Given the description of an element on the screen output the (x, y) to click on. 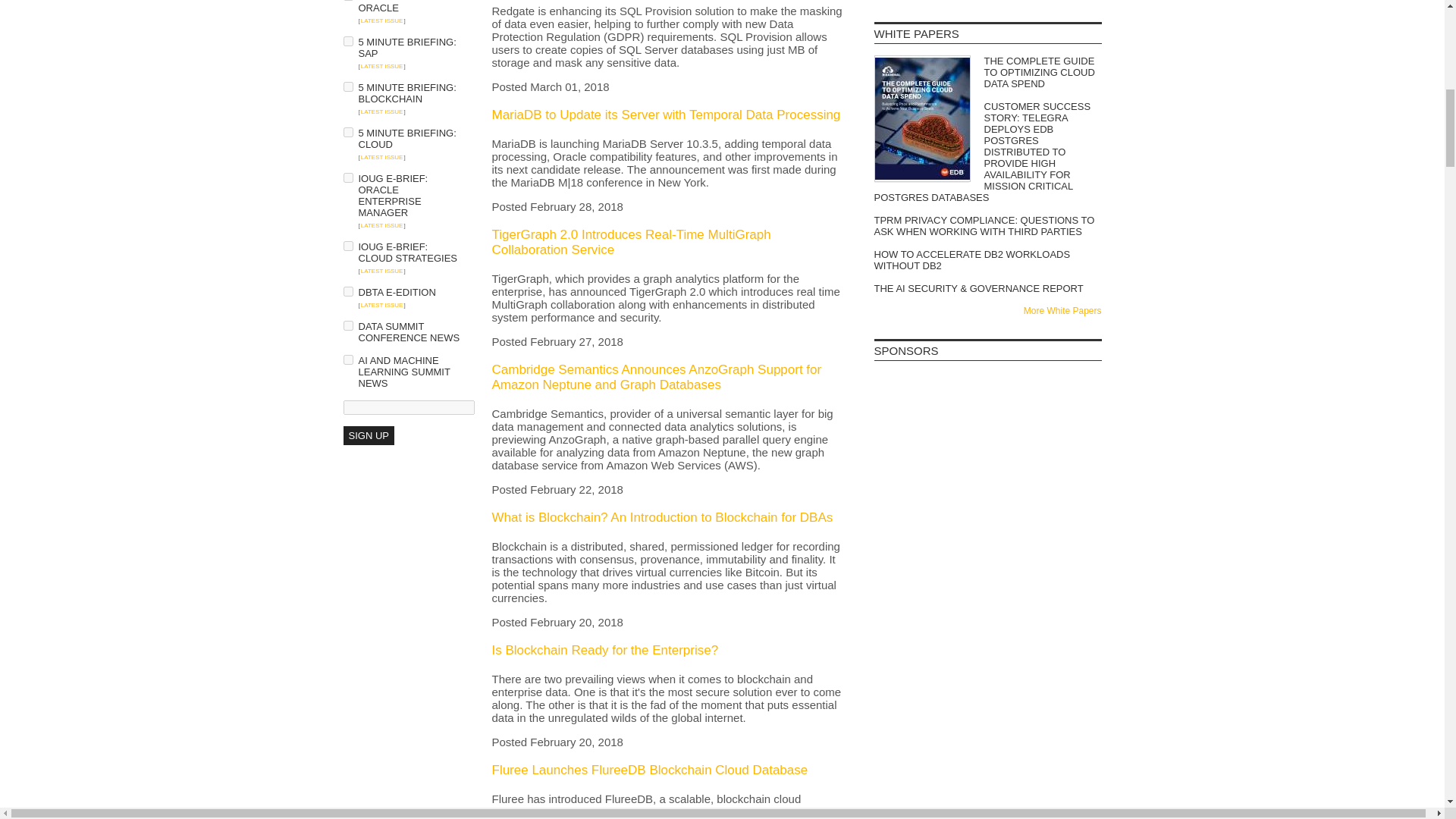
on (347, 245)
on (347, 325)
Sign Up (367, 435)
on (347, 359)
on (347, 40)
Fluree Launches FlureeDB Blockchain Cloud Database (650, 769)
MariaDB to Update its Server with Temporal Data Processing (666, 114)
Is Blockchain Ready for the Enterprise? (604, 649)
What is Blockchain? An Introduction to Blockchain for DBAs (662, 517)
on (347, 291)
on (347, 86)
on (347, 177)
